Given the description of an element on the screen output the (x, y) to click on. 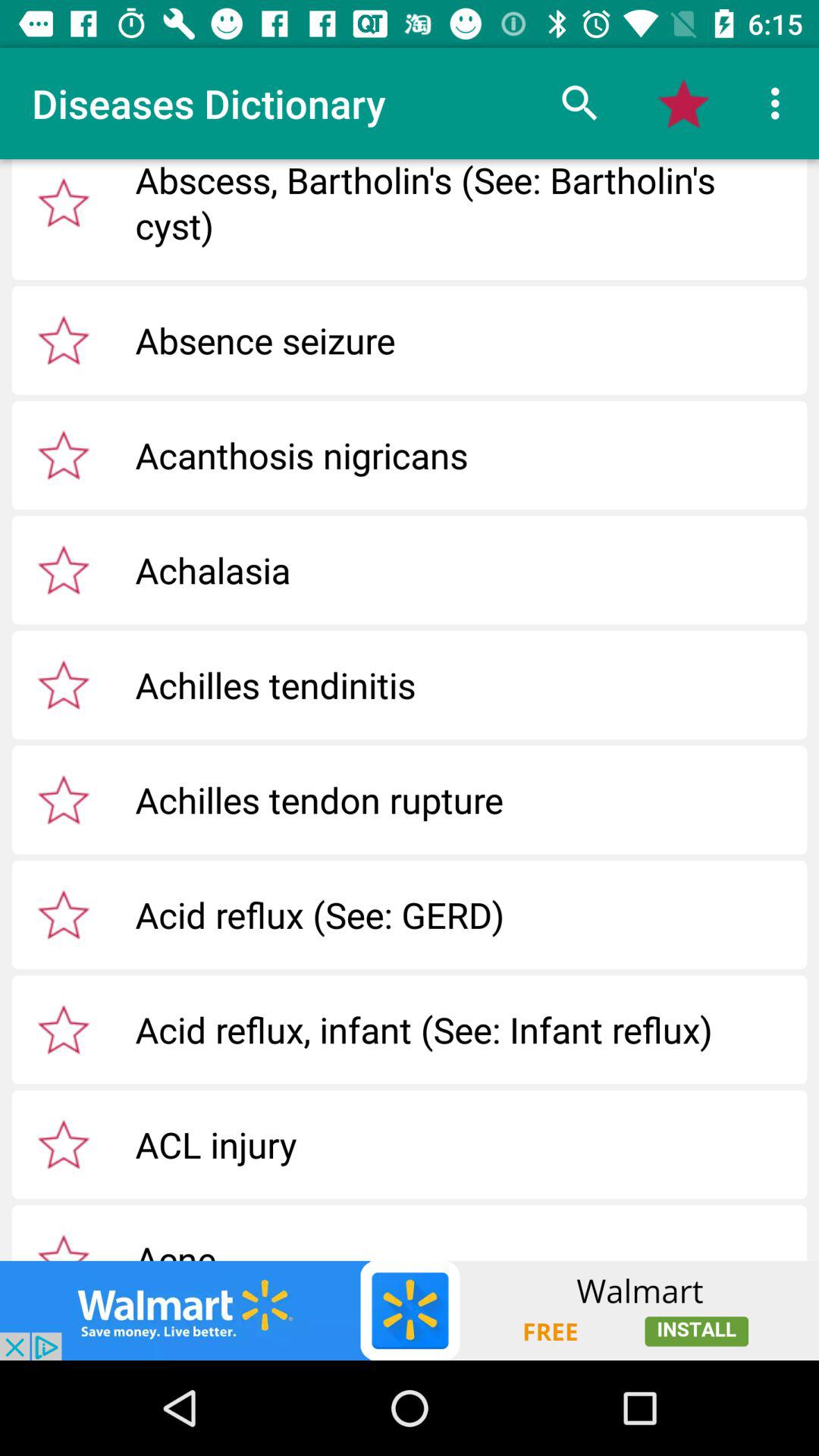
go to walmart app (409, 1310)
